Given the description of an element on the screen output the (x, y) to click on. 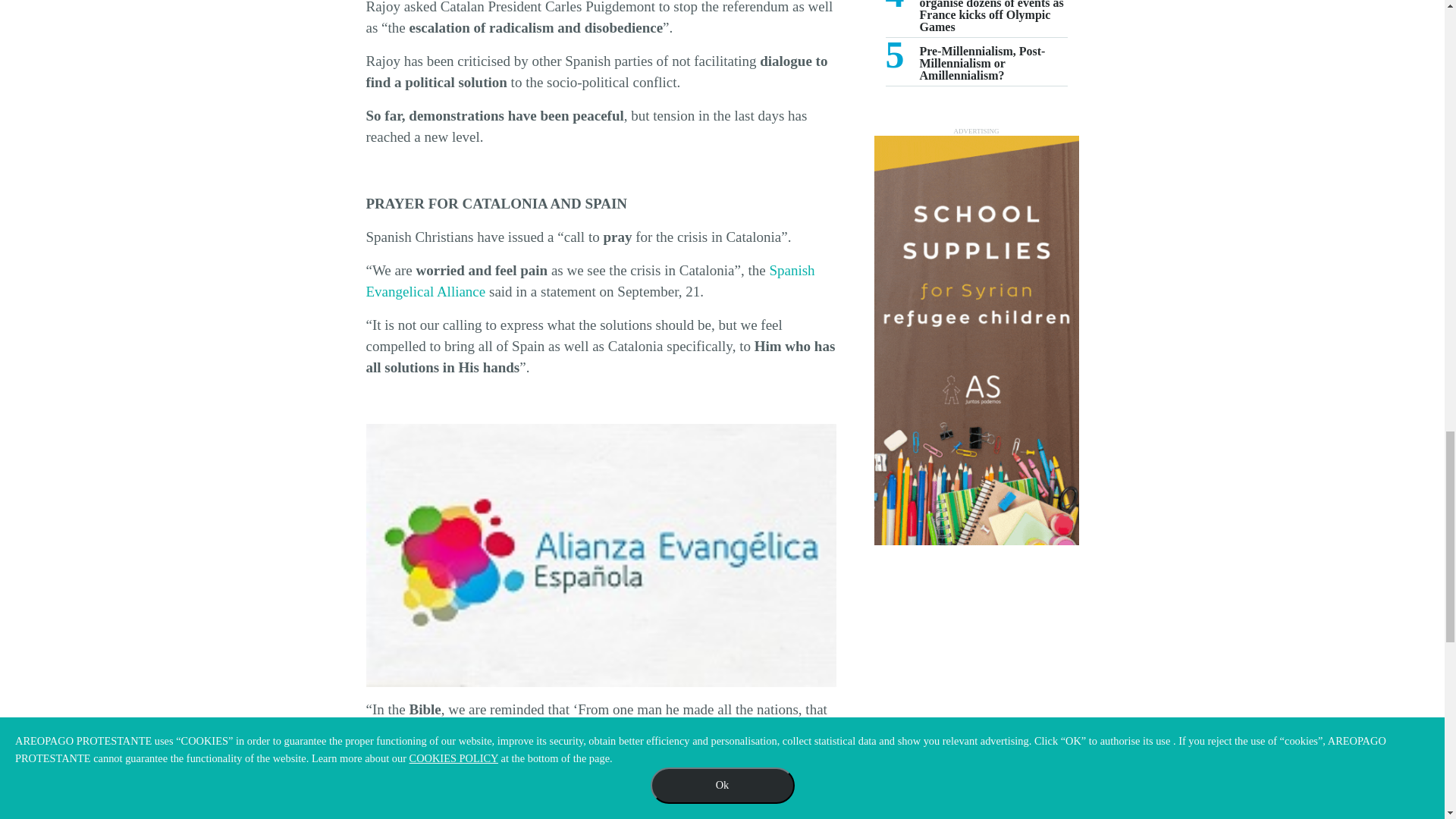
Spanish Evangelical Alliance. (600, 555)
